Given the description of an element on the screen output the (x, y) to click on. 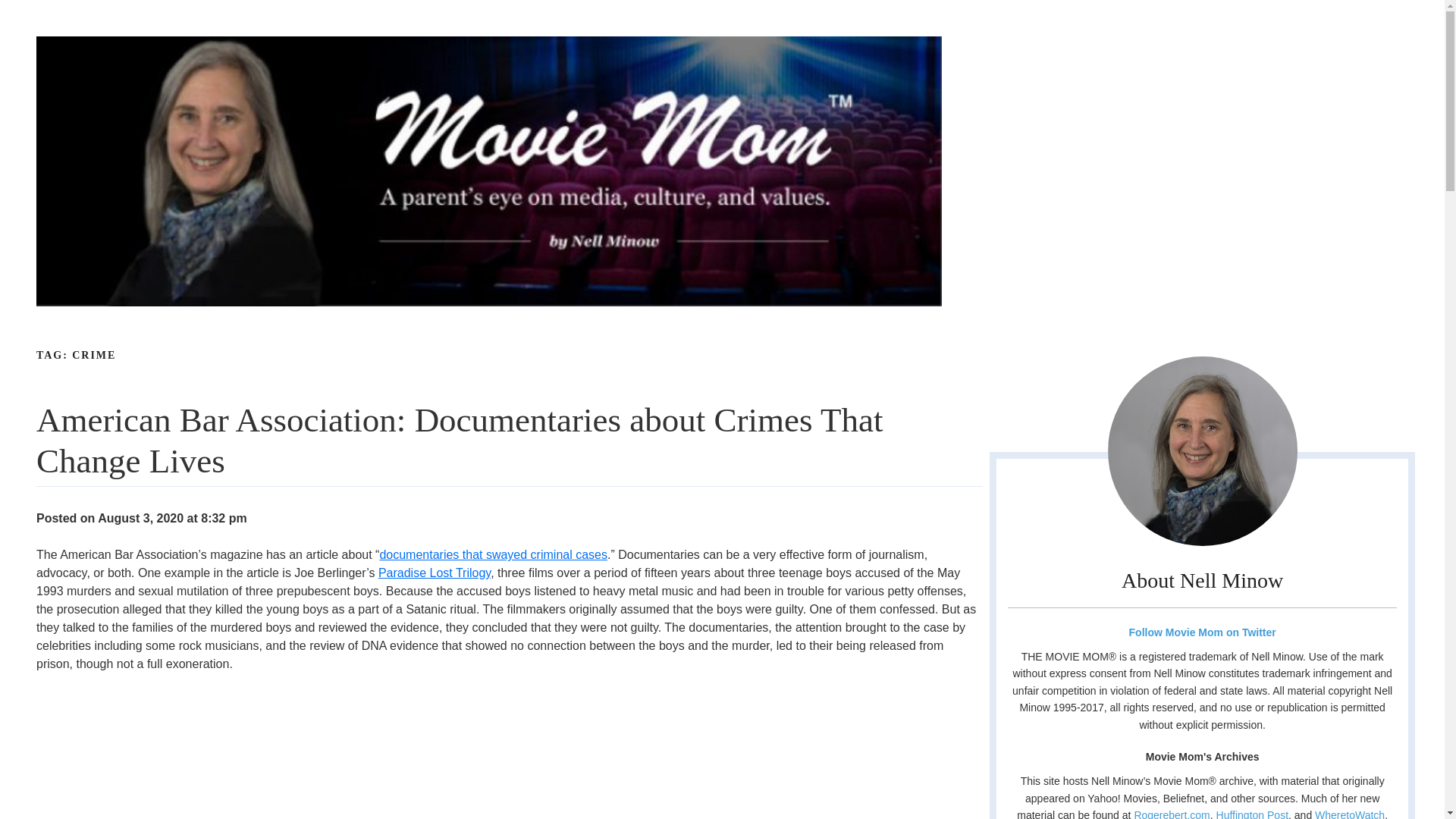
WheretoWatch (1349, 814)
Paradise Lost Trilogy (434, 572)
Follow Movie Mom on Twitter (1201, 632)
Huffington Post (1251, 814)
YouTube player (234, 755)
Rogerebert.com (1171, 814)
documentaries that swayed criminal cases (492, 554)
